Given the description of an element on the screen output the (x, y) to click on. 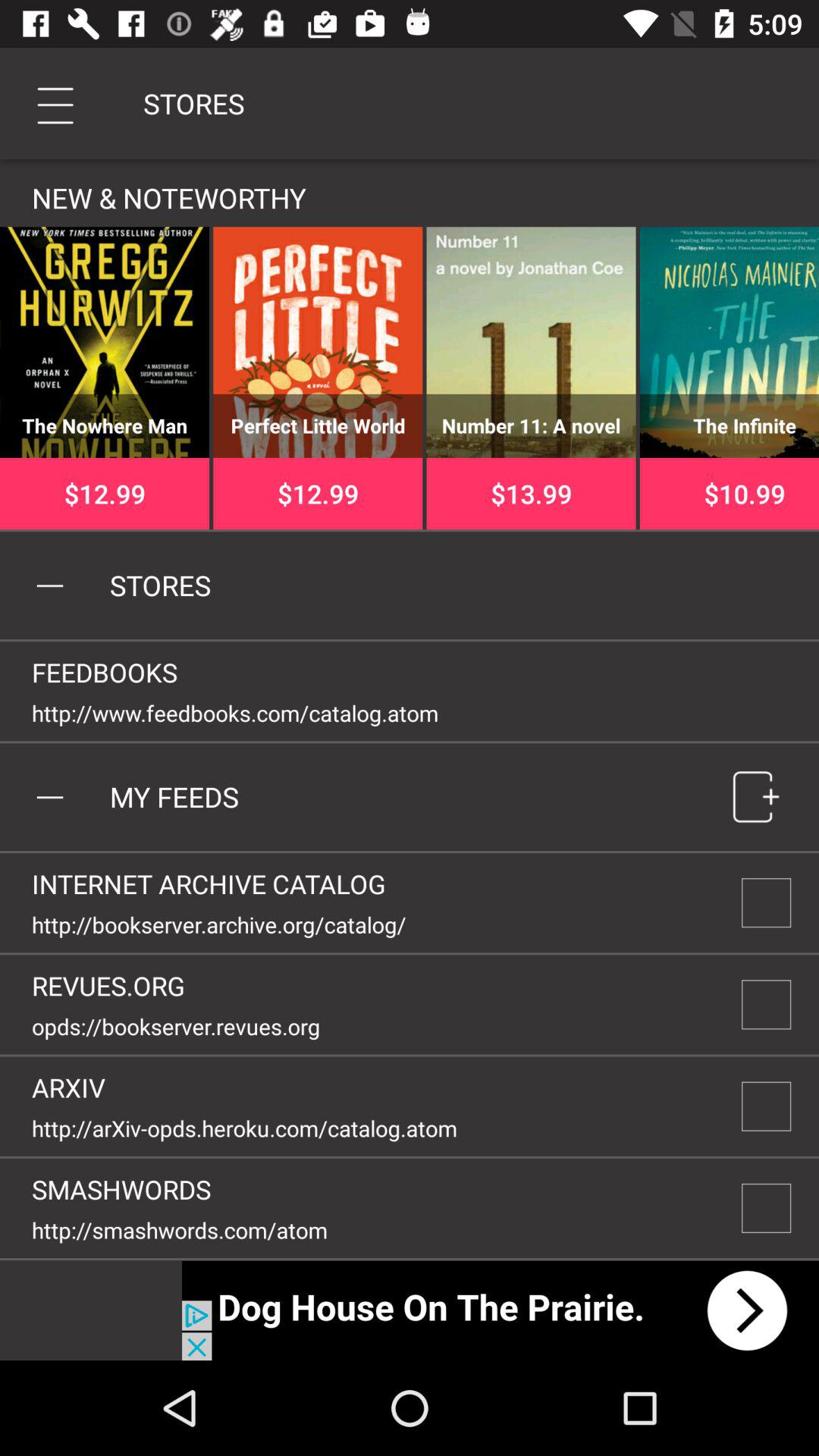
go to next (500, 1310)
